Given the description of an element on the screen output the (x, y) to click on. 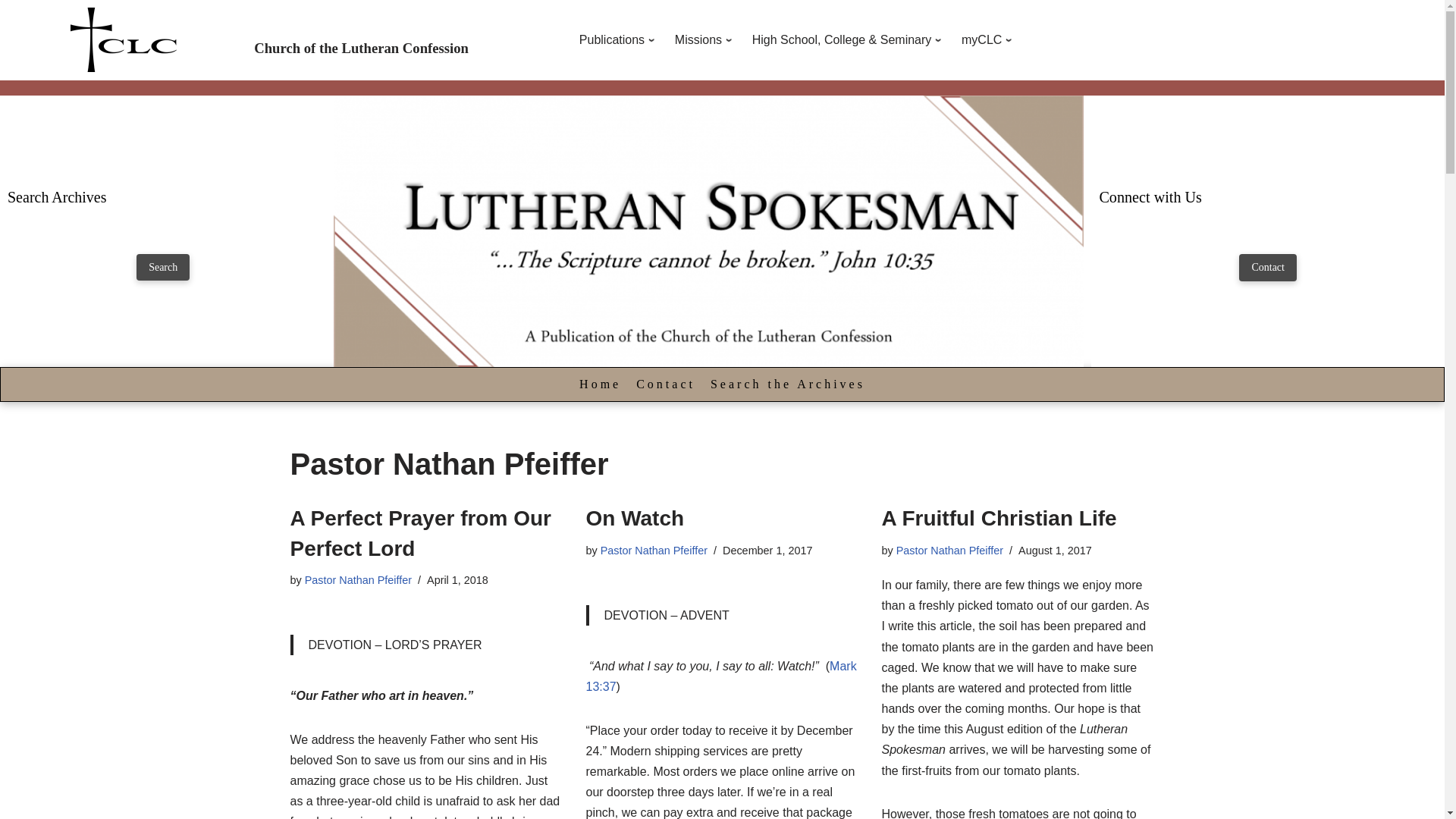
A Fruitful Christian Life (998, 517)
Missions (706, 40)
Mark 13:37 (720, 676)
myCLC (989, 40)
Pastor Nathan Pfeiffer (653, 550)
Search (162, 267)
Home (599, 384)
Contact (664, 384)
A Perfect Prayer from Our Perfect Lord (419, 532)
